Given the description of an element on the screen output the (x, y) to click on. 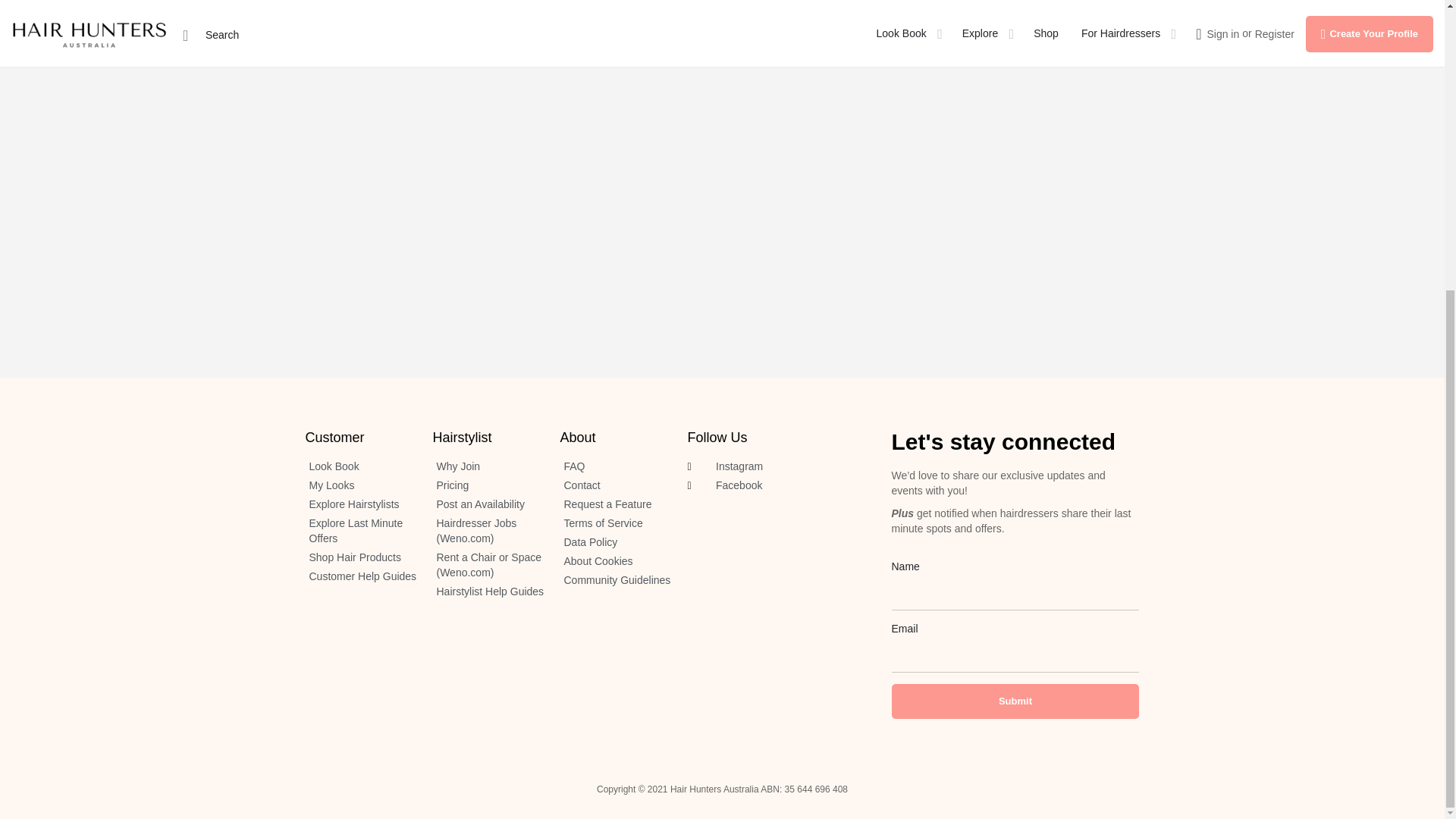
Hairstylist Help Guides (488, 591)
Shop Hair Products (360, 557)
Terms of Service (615, 523)
Contact (615, 485)
Post an Availability (488, 504)
Explore Last Minute Offers (360, 531)
Data Policy (615, 542)
Why Join (488, 467)
Request a Feature (615, 504)
Pricing (488, 485)
Submit (1015, 701)
Look Book (360, 467)
FAQ (615, 467)
My Looks (360, 485)
Customer Help Guides (360, 576)
